Given the description of an element on the screen output the (x, y) to click on. 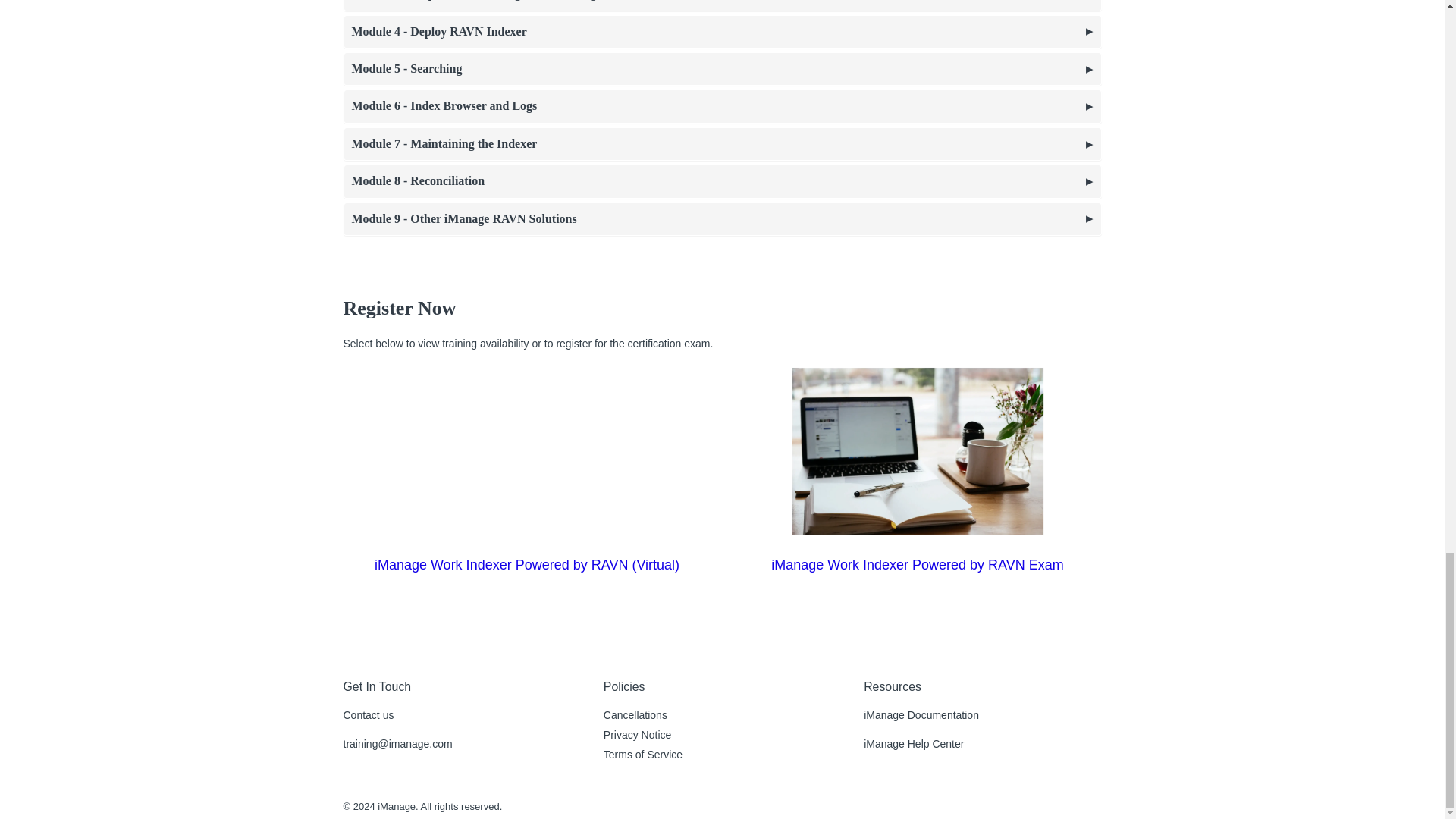
Terms of Service (643, 754)
iManage Documentation (920, 715)
Cancellations (635, 715)
Privacy Notice (637, 734)
Contact us (367, 715)
iManage Help Center (913, 743)
iManage Work Indexer Powered by RAVN Exam (917, 564)
